Given the description of an element on the screen output the (x, y) to click on. 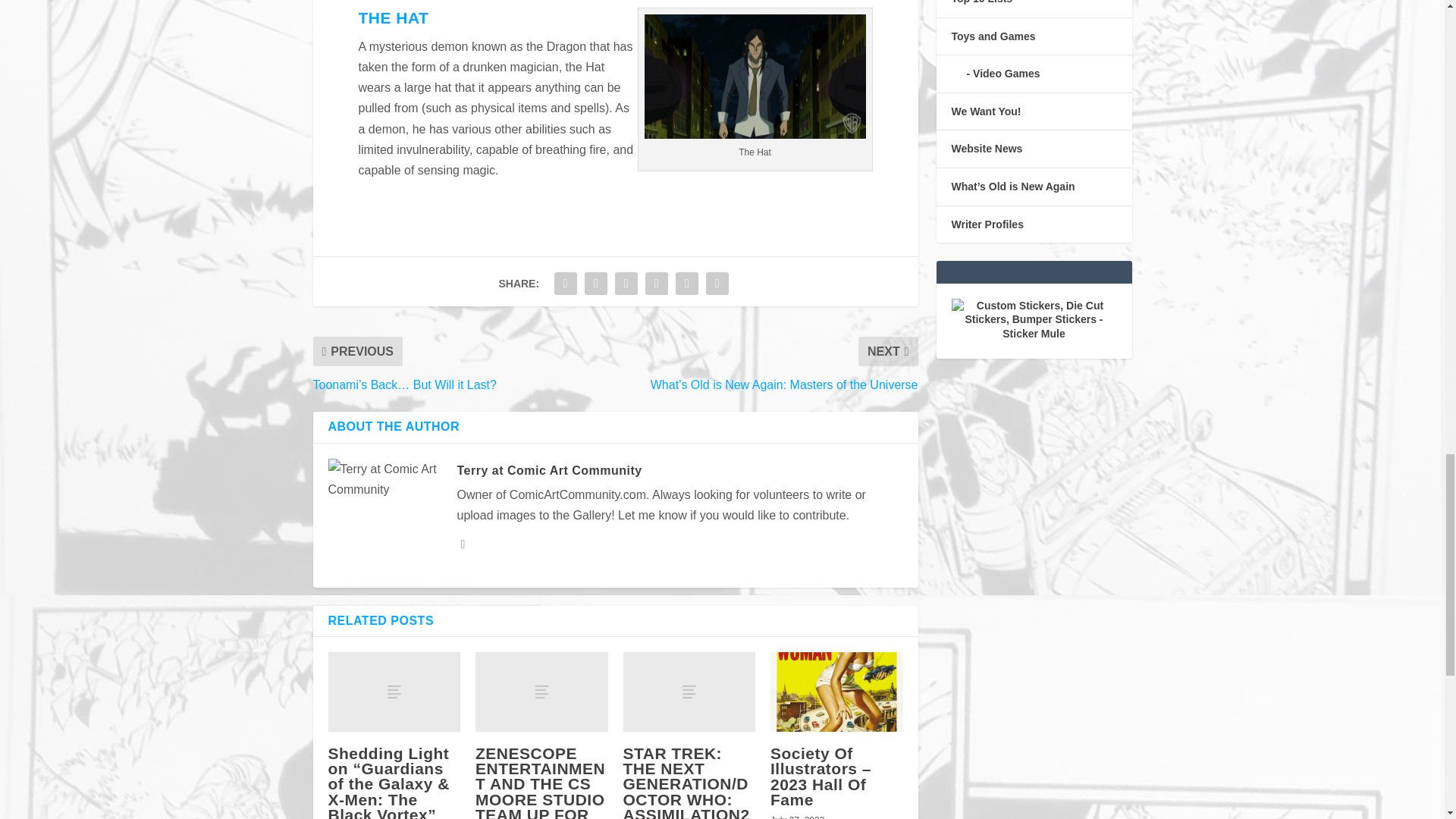
Share "Who are the Elite?" via Tumblr (626, 283)
View all posts by Terry at Comic Art Community (549, 470)
Share "Who are the Elite?" via Facebook (565, 283)
Share "Who are the Elite?" via LinkedIn (686, 283)
Share "Who are the Elite?" via Pinterest (656, 283)
The Hat (755, 76)
Share "Who are the Elite?" via Email (716, 283)
